Given the description of an element on the screen output the (x, y) to click on. 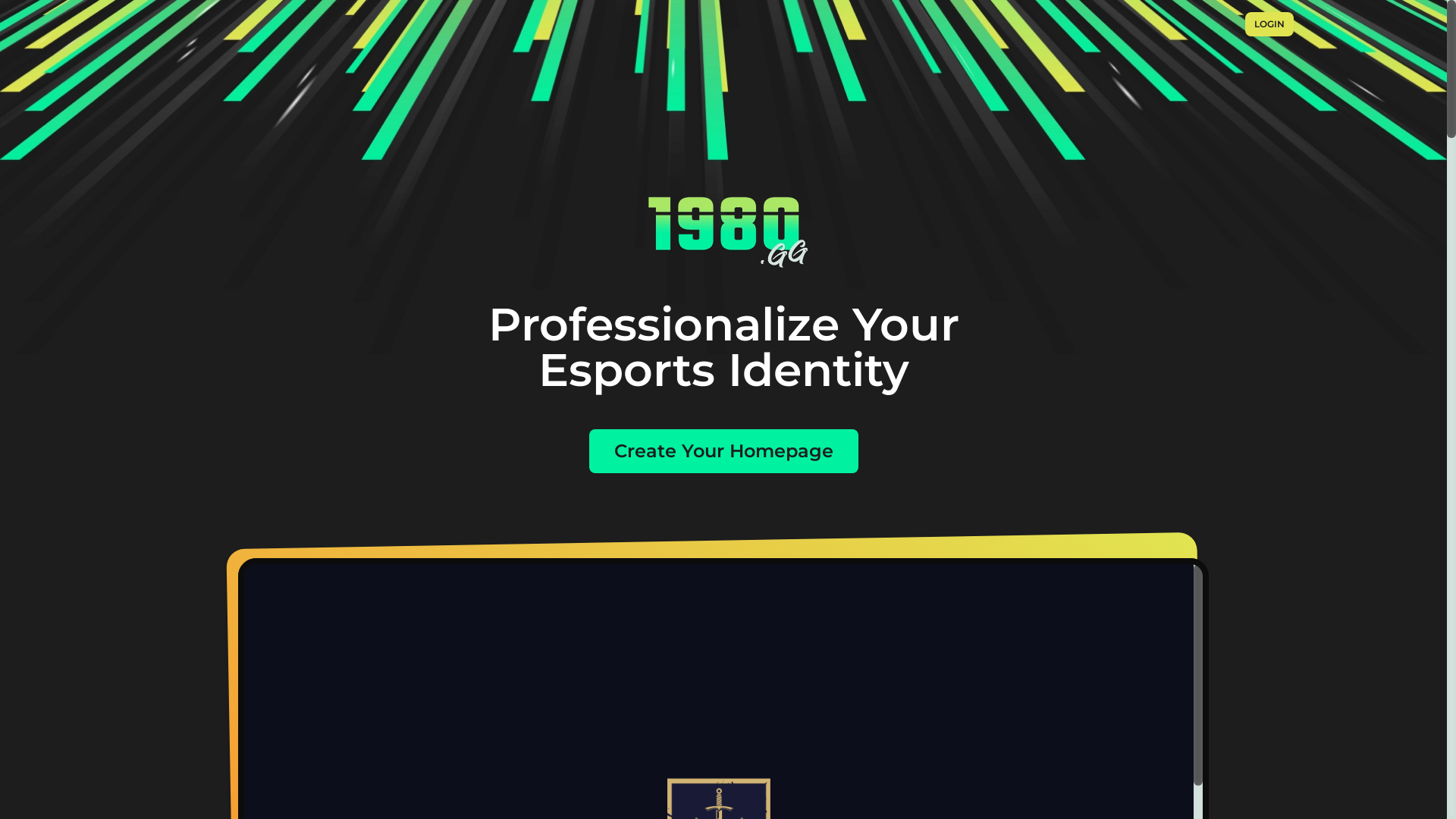
LOGIN Element type: text (1269, 24)
Create Your Homepage Element type: text (722, 451)
